Given the description of an element on the screen output the (x, y) to click on. 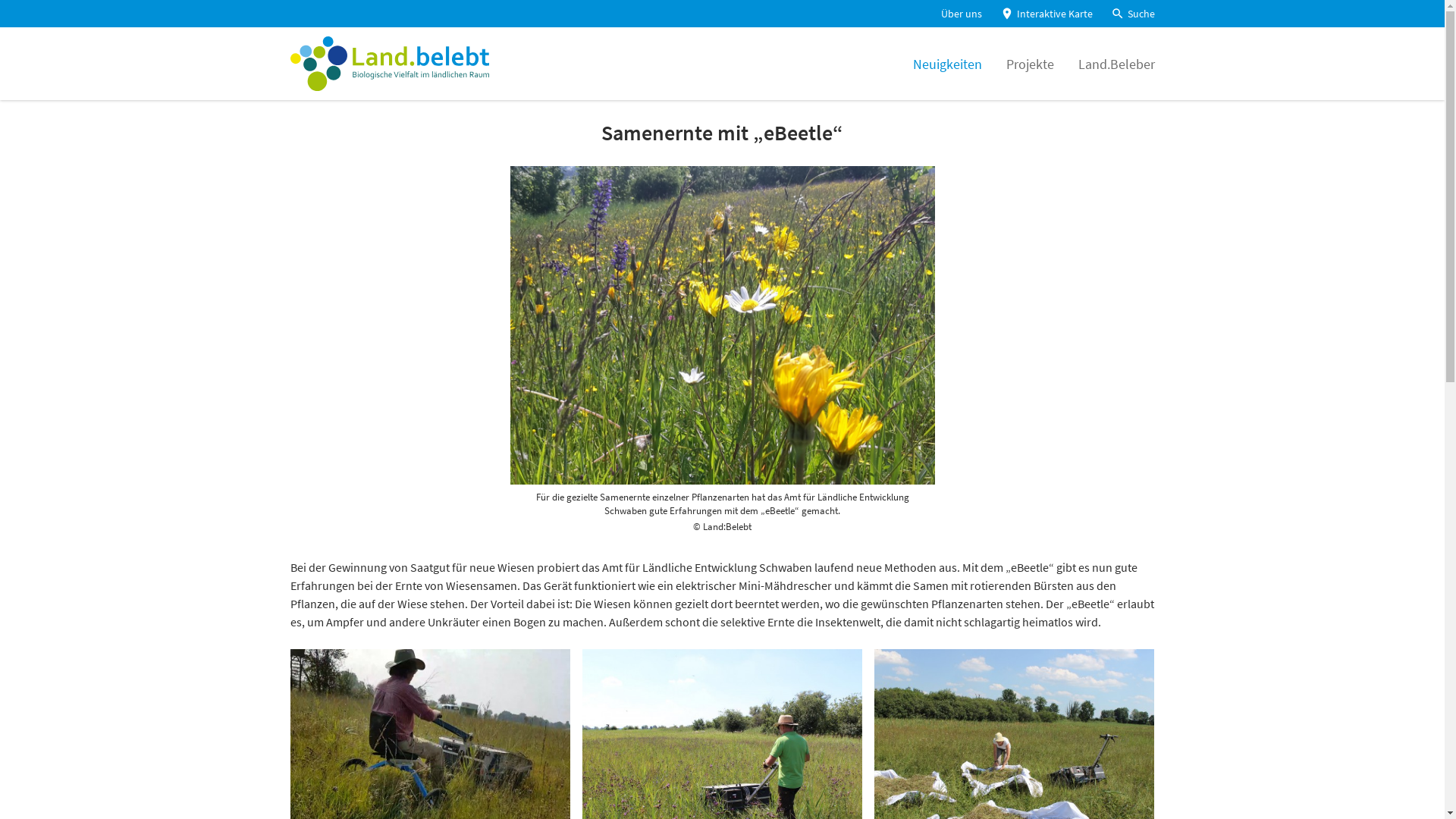
Neuigkeiten Element type: text (947, 63)
Suche Element type: text (1132, 13)
0 Element type: text (19, 30)
Land.Beleber Element type: text (1116, 63)
Interaktive Karte Element type: text (1045, 13)
Projekte Element type: text (1029, 63)
